Given the description of an element on the screen output the (x, y) to click on. 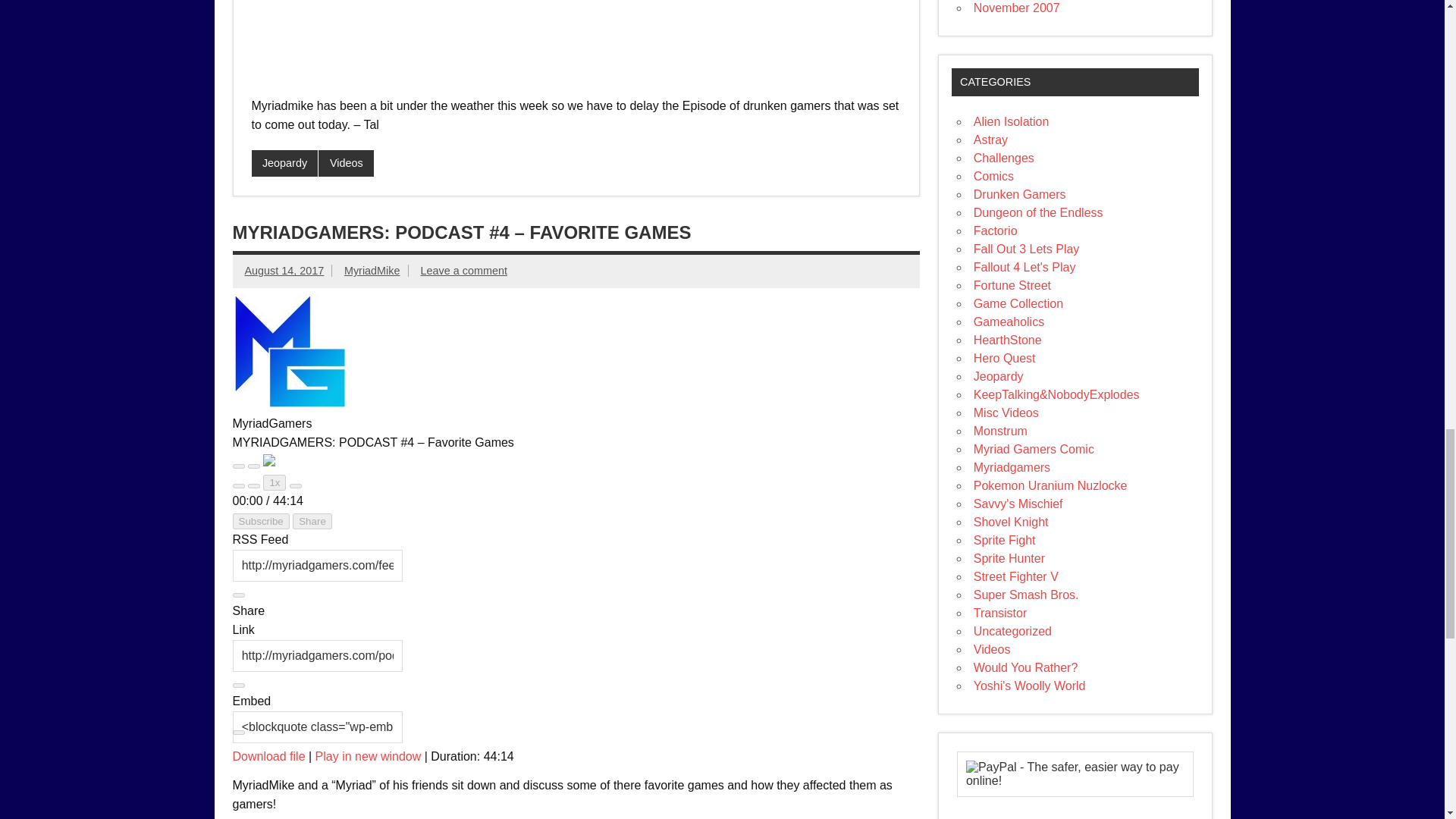
Pause (253, 466)
Rewind 10 seconds (253, 486)
View all posts by MyriadMike (371, 270)
MyriadGamers (288, 350)
Playback Speed (274, 482)
Fast Forward 30 seconds (295, 486)
4:07 pm (283, 270)
Play (237, 466)
